Given the description of an element on the screen output the (x, y) to click on. 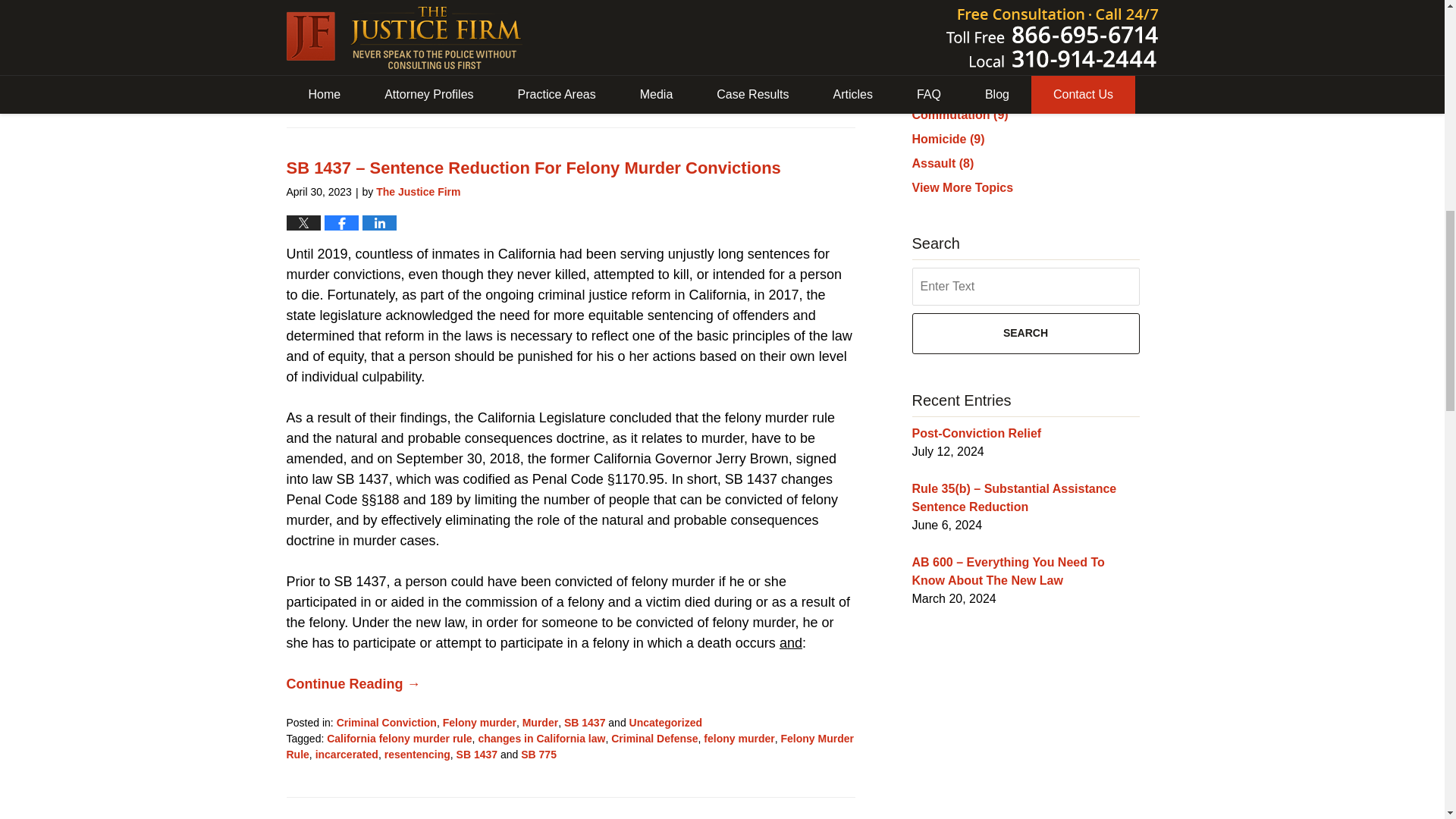
Immigration (552, 21)
View all posts in Sentencing Enhancements (703, 21)
View all posts tagged with habeas corpus petition (568, 60)
AB 2942 (389, 52)
SB 1437 (609, 21)
View all posts tagged with changes in California law (521, 52)
Uncategorized (322, 37)
View all posts tagged with criminal conviction (723, 52)
View all posts tagged with AB 256 (344, 52)
Sentencing Enhancements (703, 21)
